Given the description of an element on the screen output the (x, y) to click on. 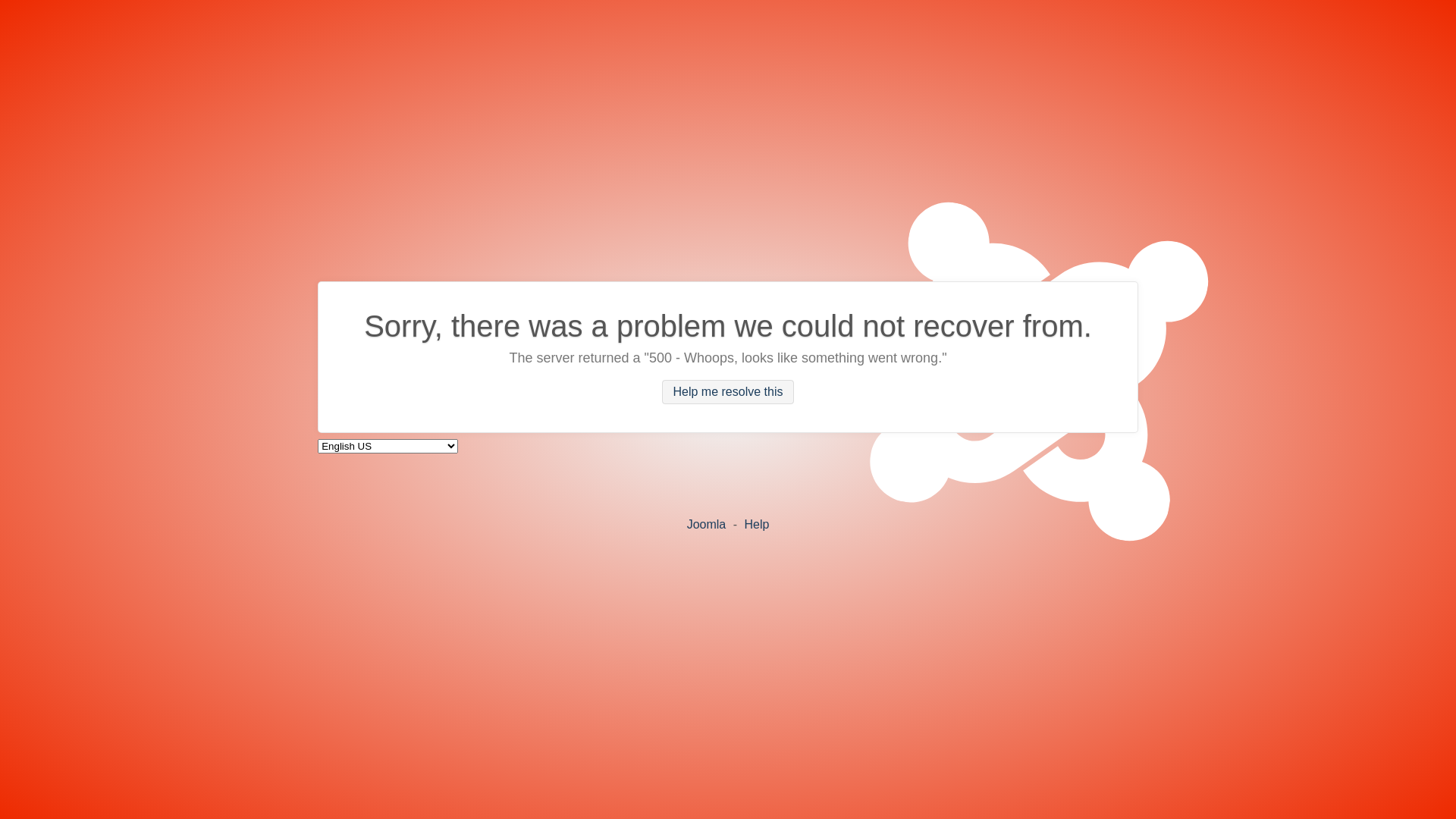
Help Element type: text (755, 523)
Joomla Element type: text (706, 523)
Help me resolve this Element type: text (727, 391)
